Given the description of an element on the screen output the (x, y) to click on. 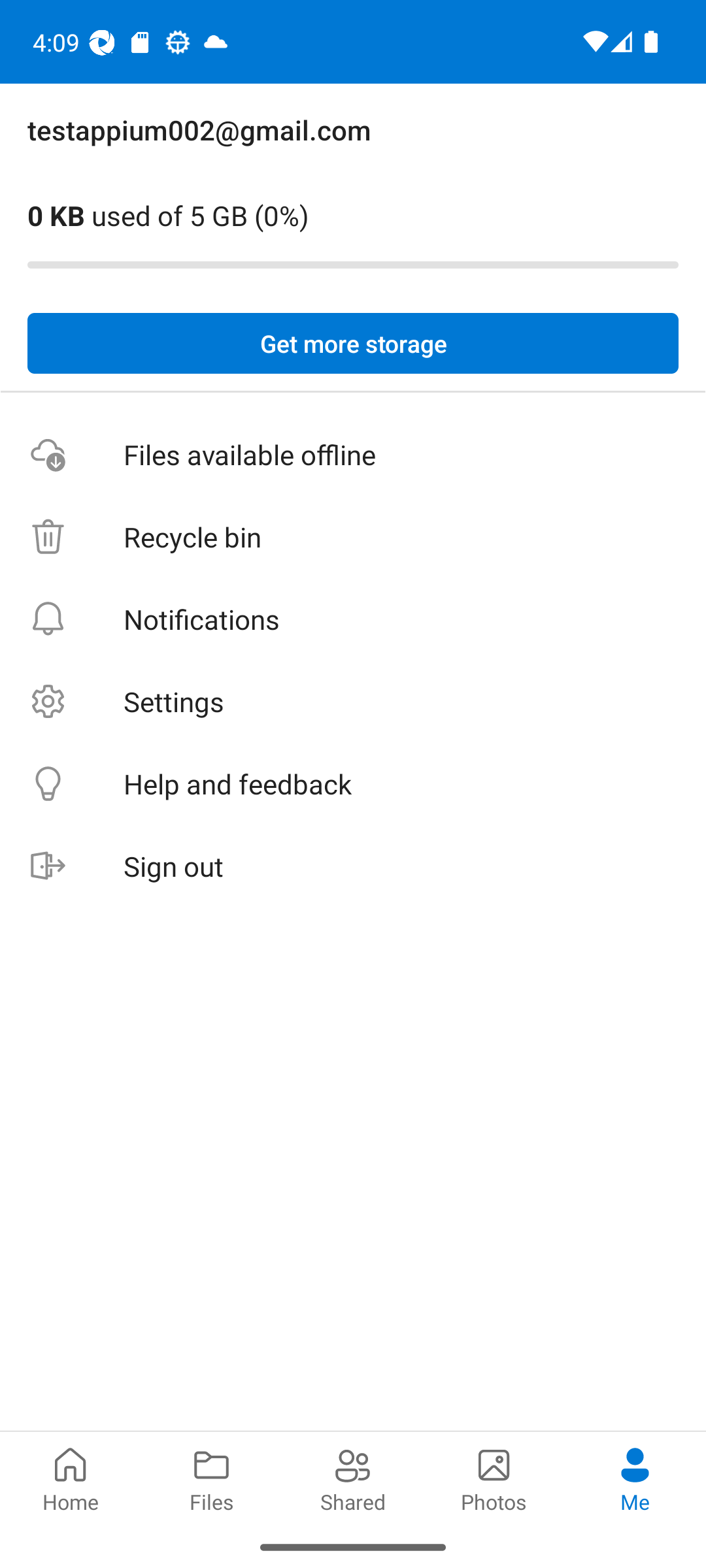
Get more storage (352, 343)
Files available offline (353, 454)
Recycle bin (353, 536)
Notifications (353, 619)
Settings (353, 701)
Help and feedback (353, 783)
Sign out (353, 865)
Home pivot Home (70, 1478)
Files pivot Files (211, 1478)
Shared pivot Shared (352, 1478)
Photos pivot Photos (493, 1478)
